Given the description of an element on the screen output the (x, y) to click on. 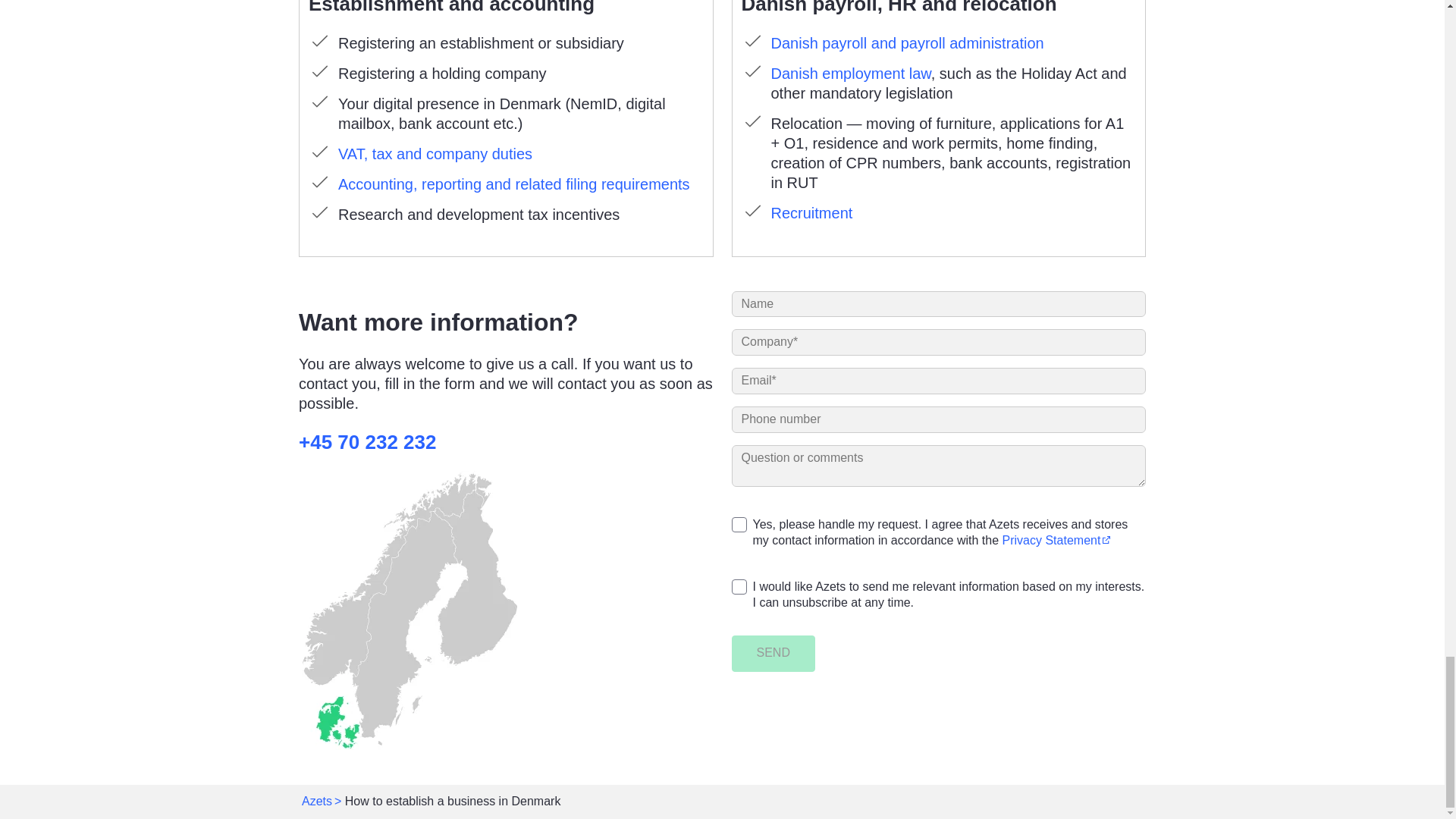
Recruitment (810, 212)
name (937, 304)
Send information (771, 653)
Financial and accounting services in Denmark (434, 153)
Privacy Statement (1056, 540)
Recruitment (810, 212)
Payroll provider in Denmark (906, 43)
Danish employment law (850, 73)
Financial and accounting services in Denmark (513, 184)
Question or comments (937, 466)
